Given the description of an element on the screen output the (x, y) to click on. 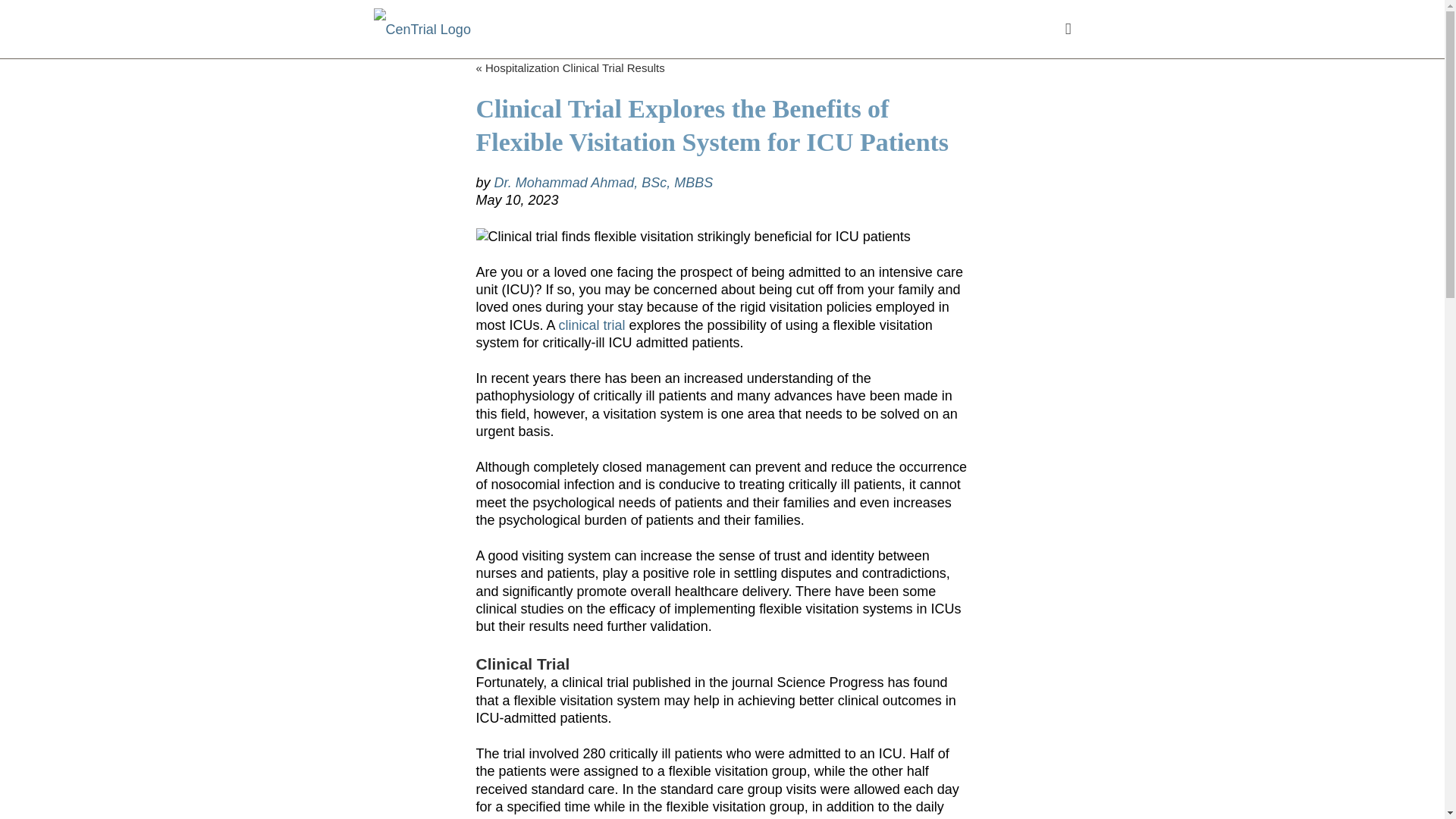
clinical trial (592, 324)
Dr. Mohammad Ahmad, BSc, MBBS (604, 182)
